Given the description of an element on the screen output the (x, y) to click on. 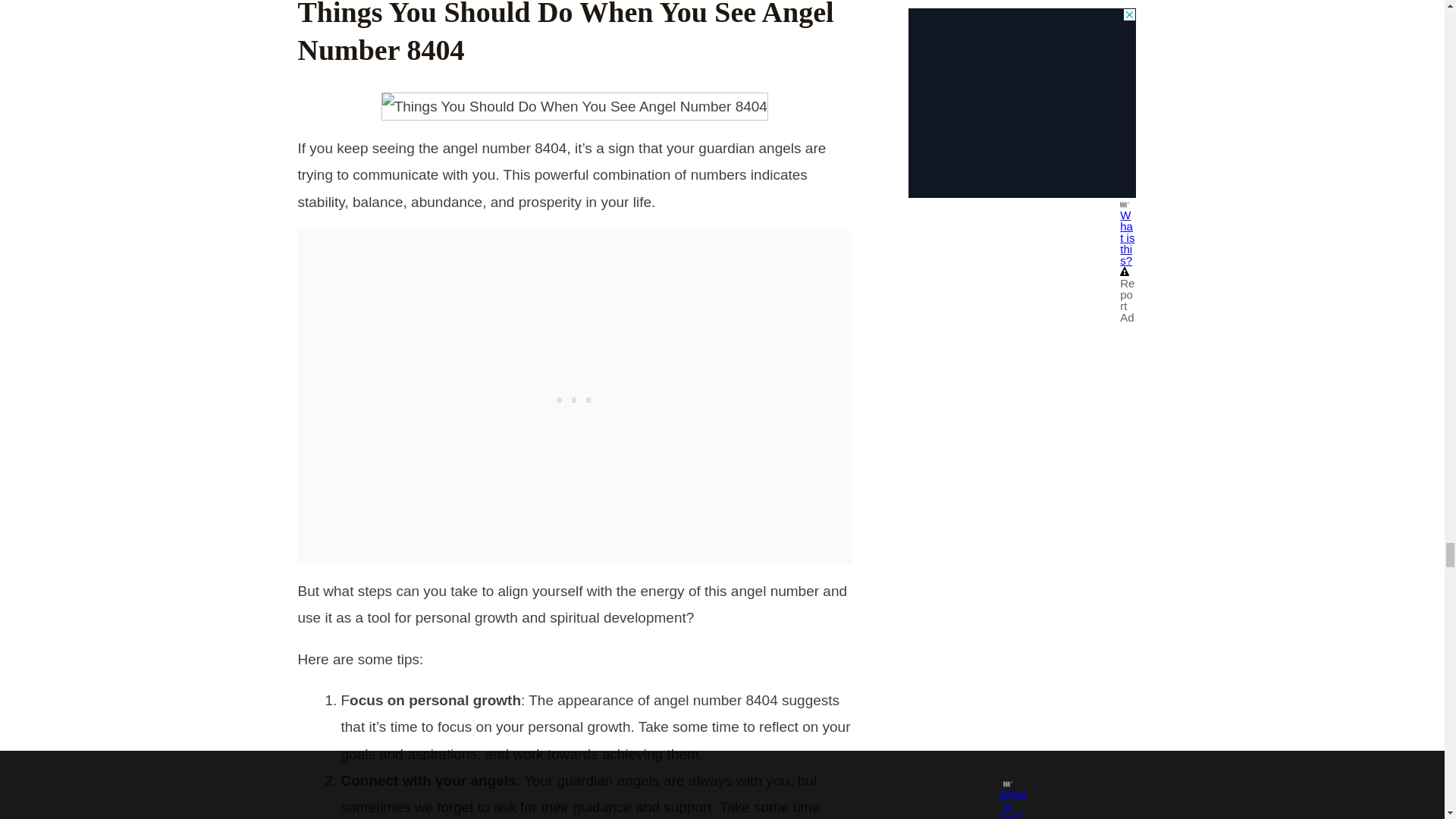
Things You Should Do When You See Angel Number 8404 (574, 106)
